Given the description of an element on the screen output the (x, y) to click on. 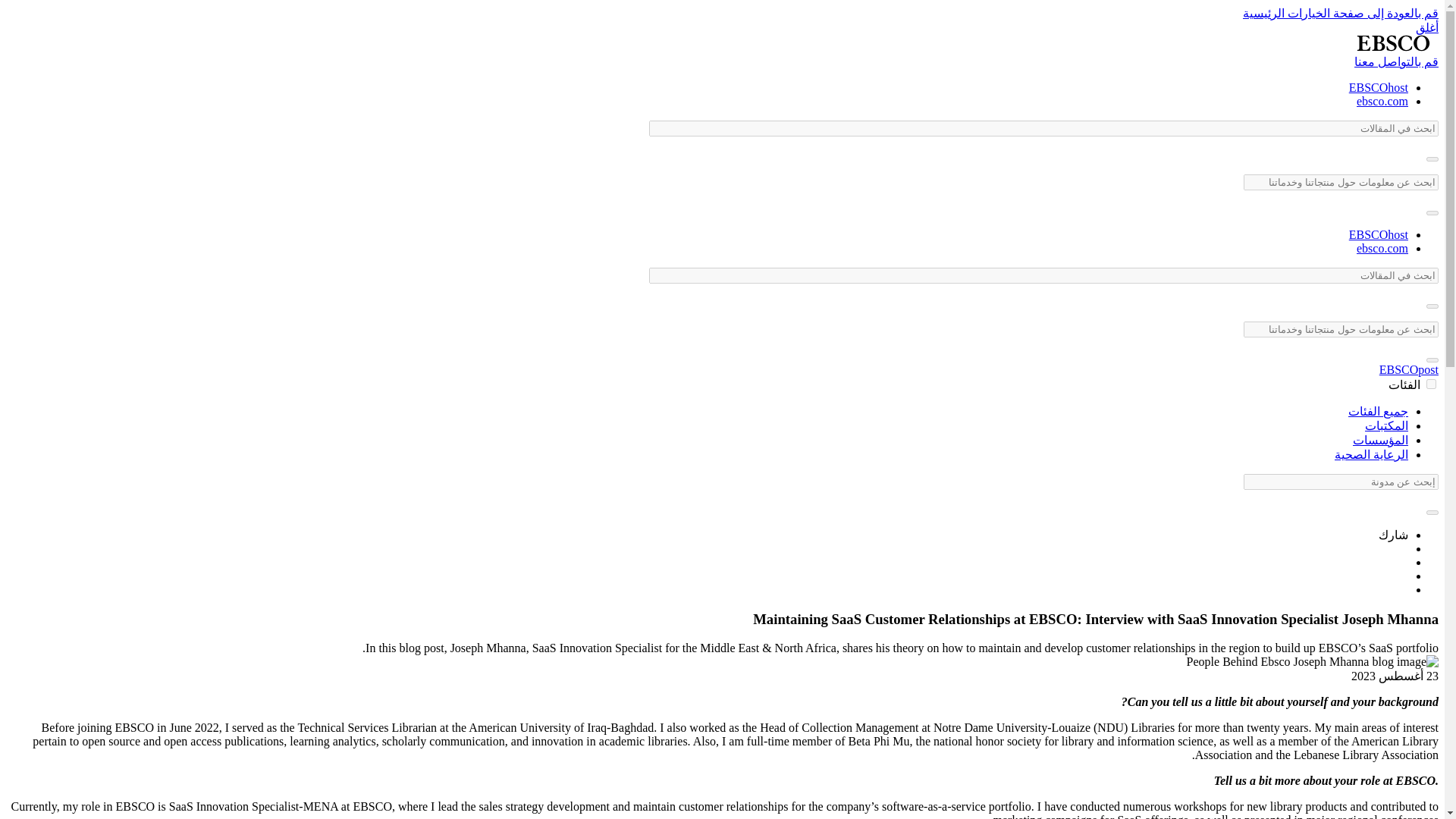
ebsco.com (1381, 247)
EBSCOhost (1378, 234)
EBSCOhost (1378, 87)
ebsco.com (1381, 101)
